Given the description of an element on the screen output the (x, y) to click on. 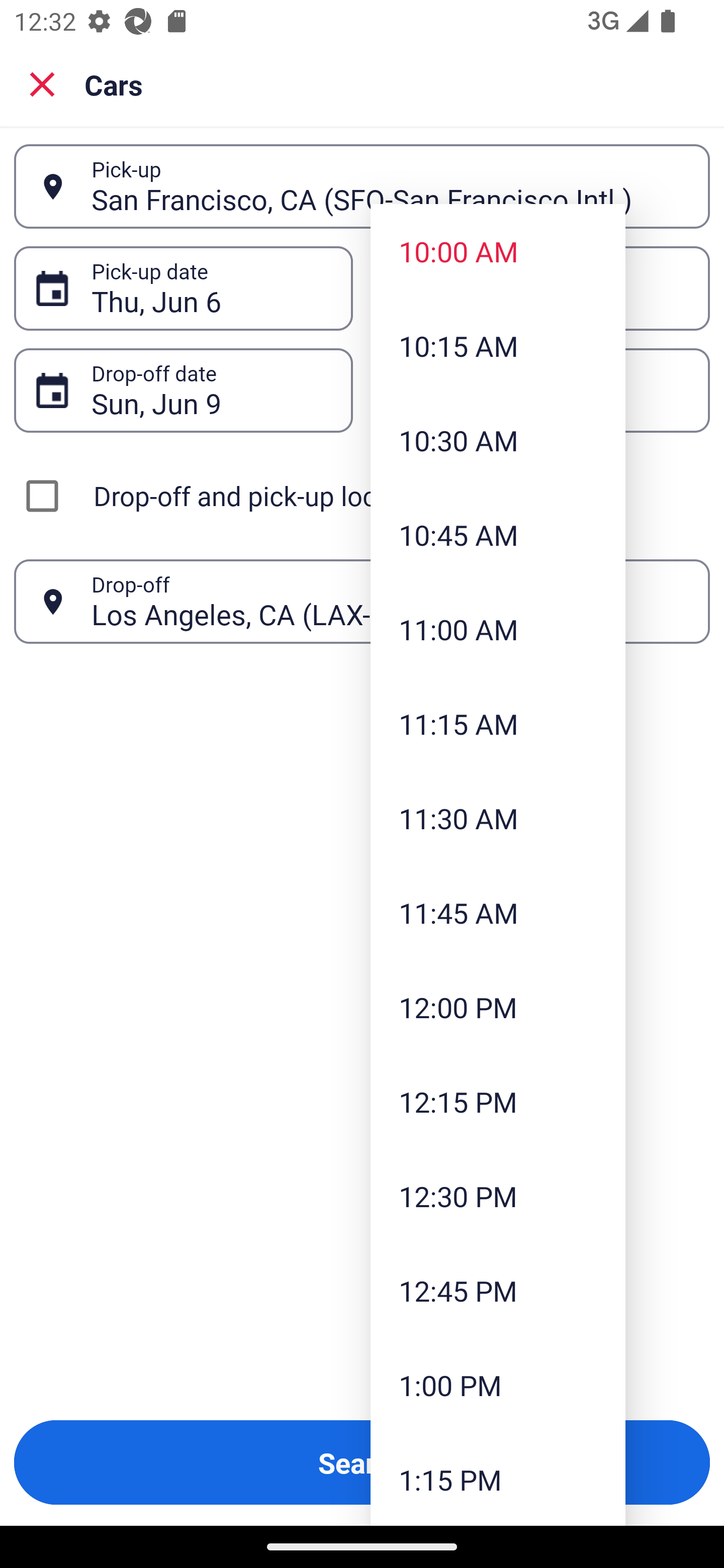
10:00 AM (497, 250)
10:15 AM (497, 345)
10:30 AM (497, 440)
10:45 AM (497, 534)
11:00 AM (497, 628)
11:15 AM (497, 723)
11:30 AM (497, 818)
11:45 AM (497, 912)
12:00 PM (497, 1006)
12:15 PM (497, 1101)
12:30 PM (497, 1196)
12:45 PM (497, 1290)
1:00 PM (497, 1384)
1:15 PM (497, 1478)
